Given the description of an element on the screen output the (x, y) to click on. 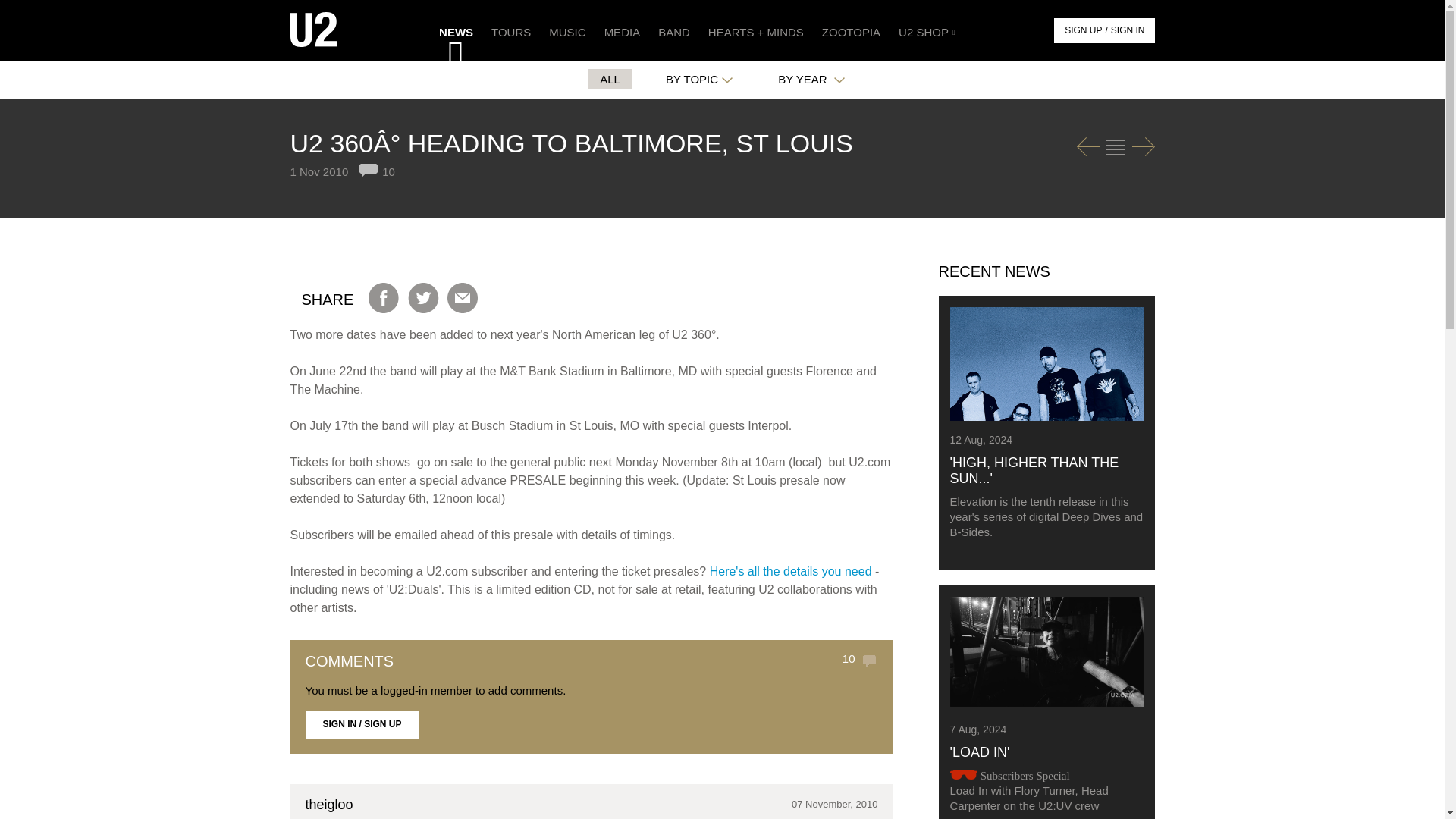
MEDIA (622, 30)
SIGN UP (1083, 30)
Next article (1142, 146)
News (1114, 147)
ZOOTOPIA (850, 30)
Zootopia (850, 30)
SIGN IN (1128, 30)
BY TOPIC (698, 78)
U2 SHOP (924, 30)
Music (567, 30)
